Given the description of an element on the screen output the (x, y) to click on. 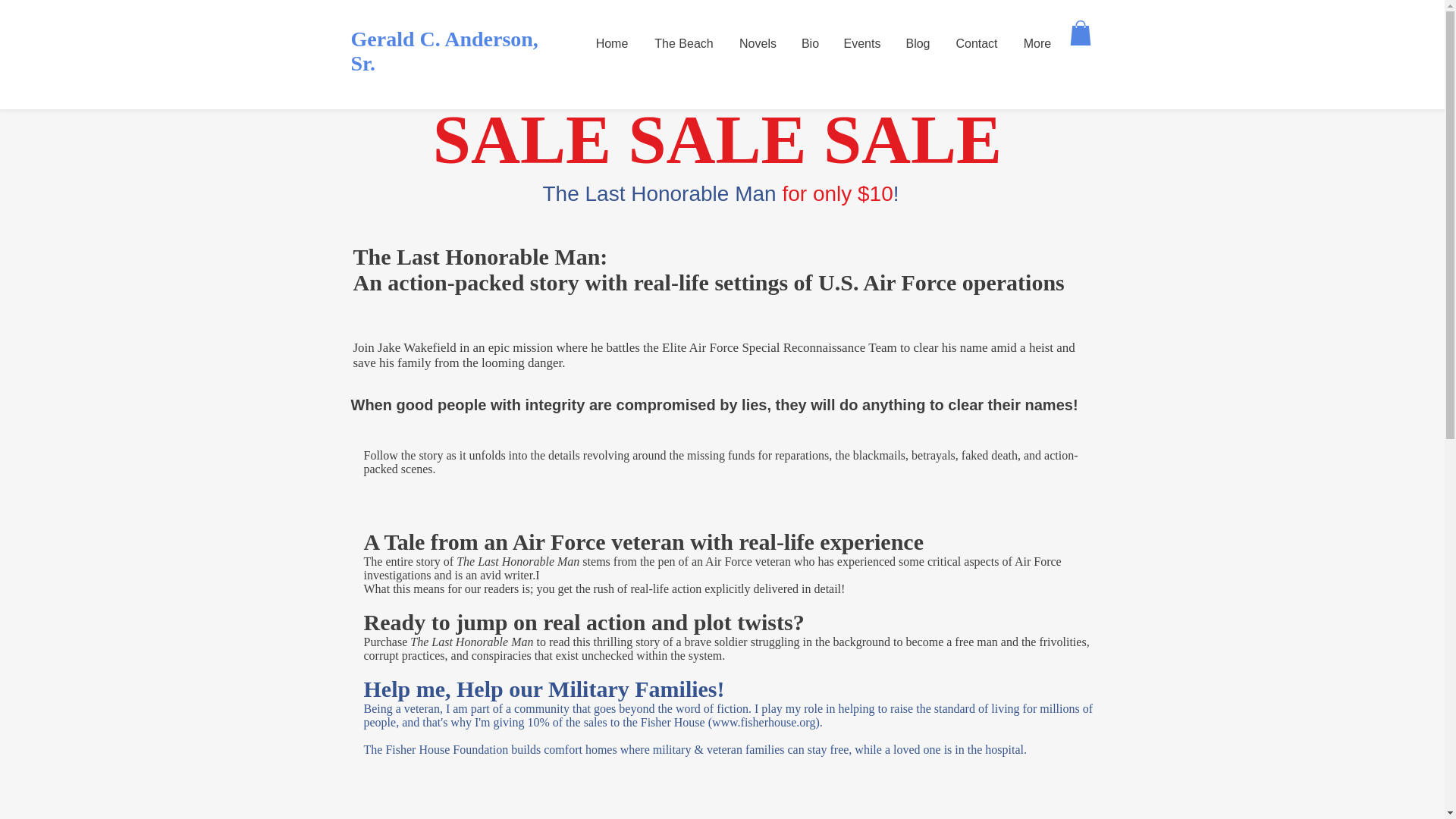
Contact (976, 44)
www.fisherhouse.org (763, 721)
Bio (810, 44)
Blog (918, 44)
Events (861, 44)
Gerald C. Anderson, Sr. (443, 51)
Home (611, 44)
The Beach (684, 44)
Novels (757, 44)
